Given the description of an element on the screen output the (x, y) to click on. 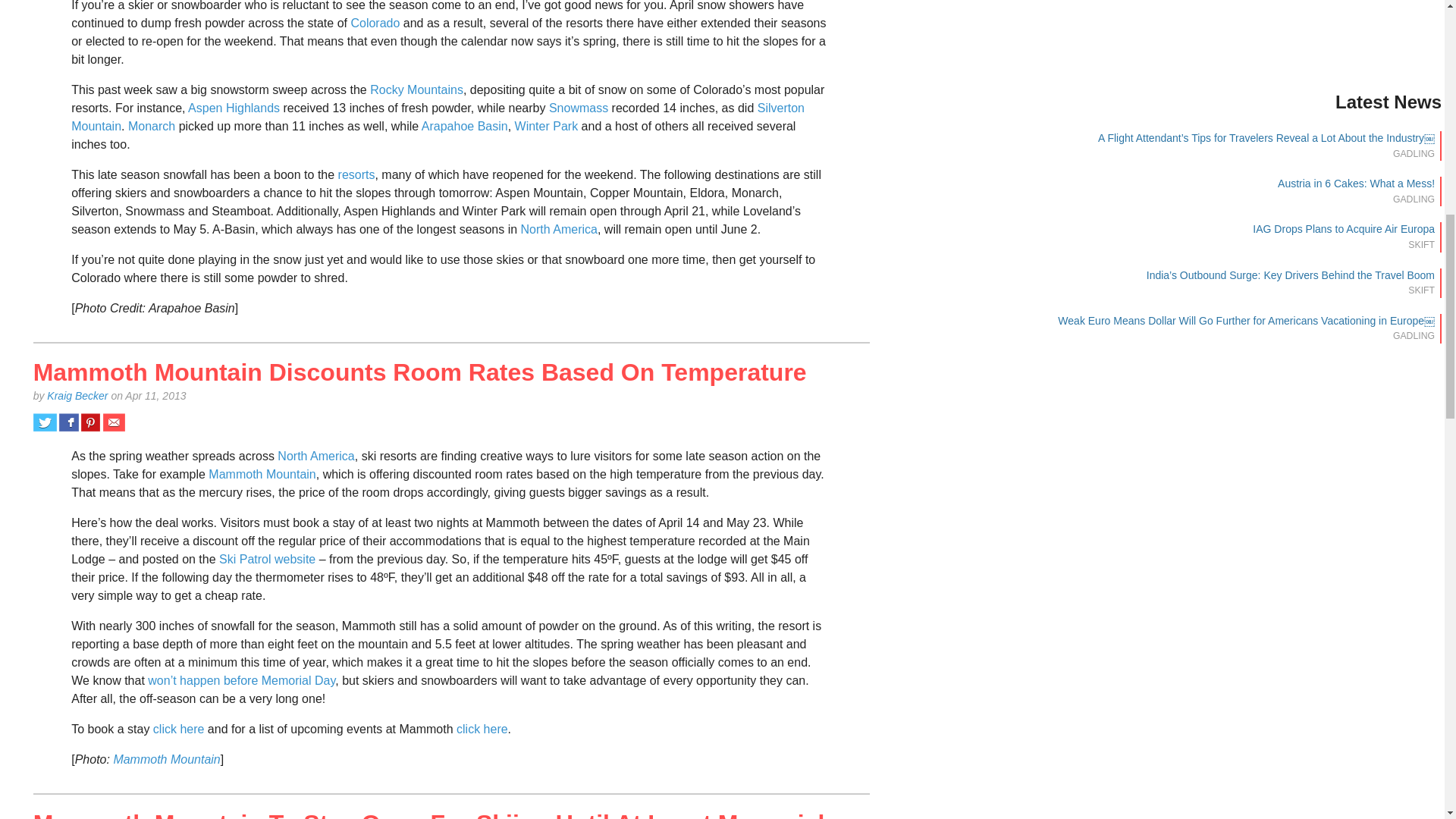
Mammoth Mountain Discounts Room Rates Based On Temperature (419, 371)
Share on Pinterest (90, 422)
Share on Facebook (68, 422)
Share on Twitter (44, 422)
Share via email (114, 422)
